Given the description of an element on the screen output the (x, y) to click on. 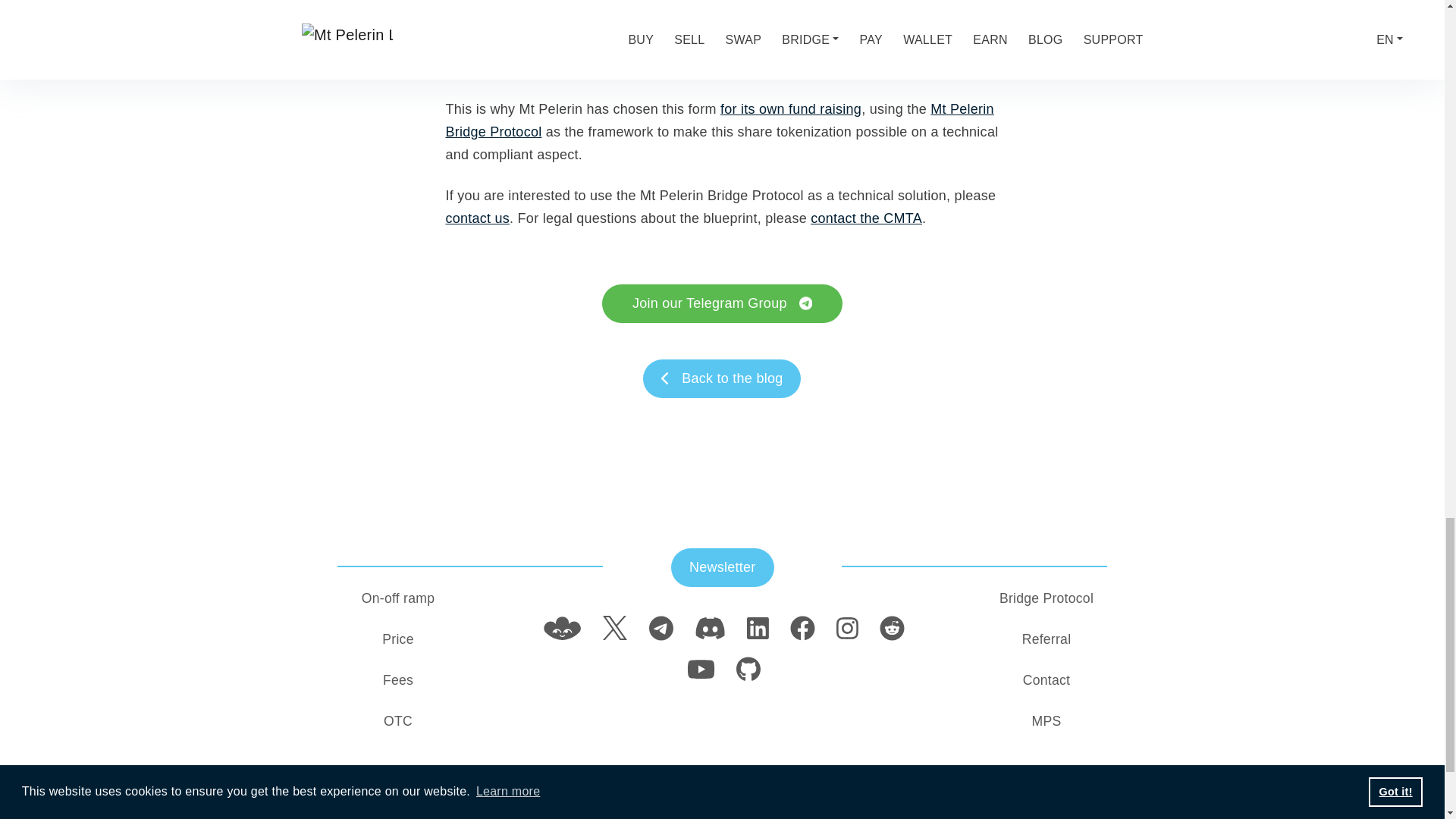
contact us (478, 218)
Newsletter (722, 567)
for its own fund raising (790, 109)
contact the CMTA (865, 218)
Mt Pelerin Bridge Protocol (719, 120)
Join our Telegram Group (722, 303)
Back to the blog (721, 378)
